Given the description of an element on the screen output the (x, y) to click on. 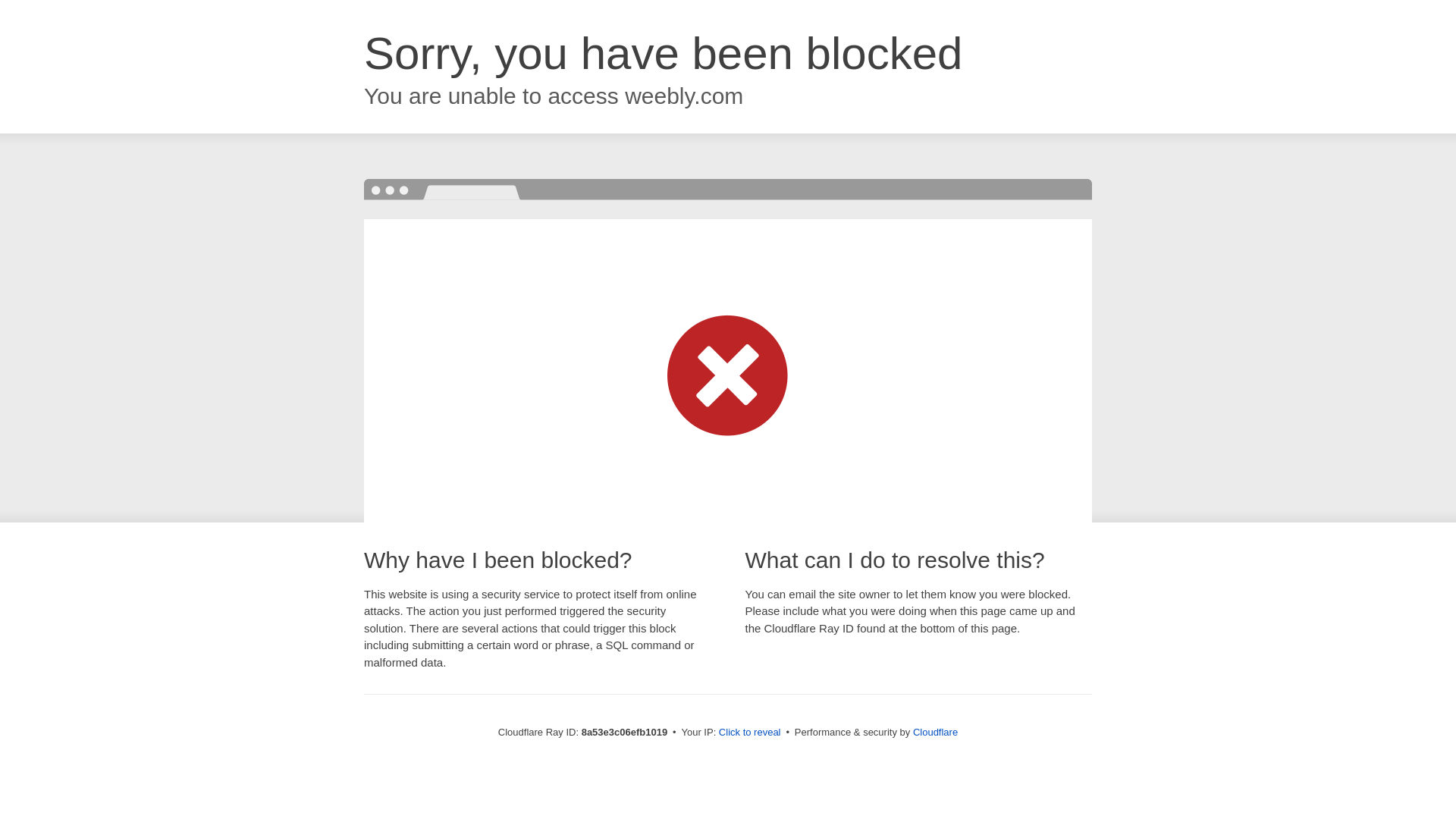
Cloudflare (935, 731)
Click to reveal (749, 732)
